Given the description of an element on the screen output the (x, y) to click on. 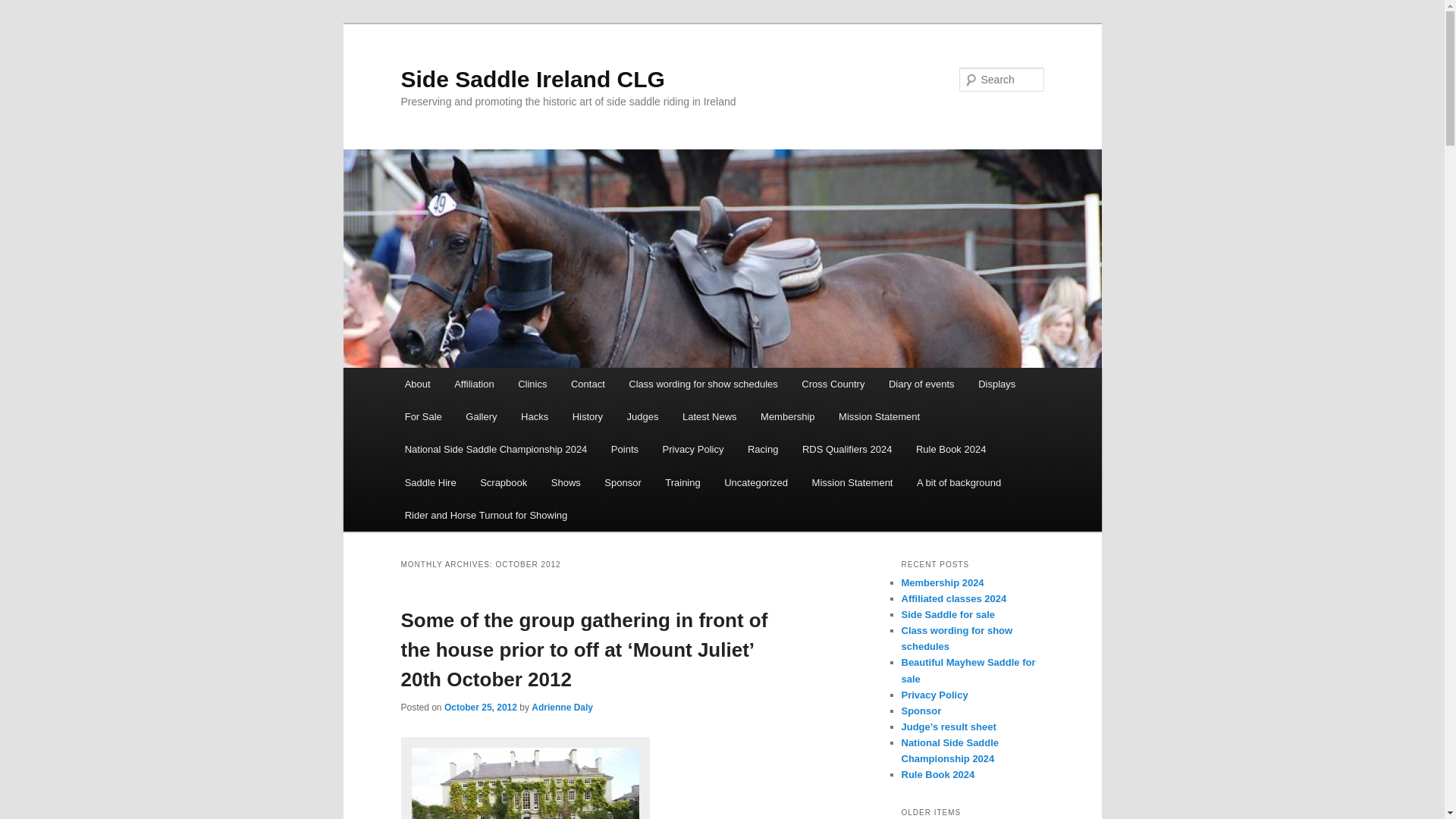
Contact (587, 383)
Privacy Policy (692, 449)
10:30 am (480, 706)
Rider and Horse Turnout for Showing (486, 514)
A bit of background (958, 482)
Rule Book 2024 (950, 449)
For Sale (423, 416)
Search (24, 8)
Membership (787, 416)
Mission Statement (851, 482)
Gallery (481, 416)
Points (624, 449)
Racing (762, 449)
Displays (996, 383)
